Given the description of an element on the screen output the (x, y) to click on. 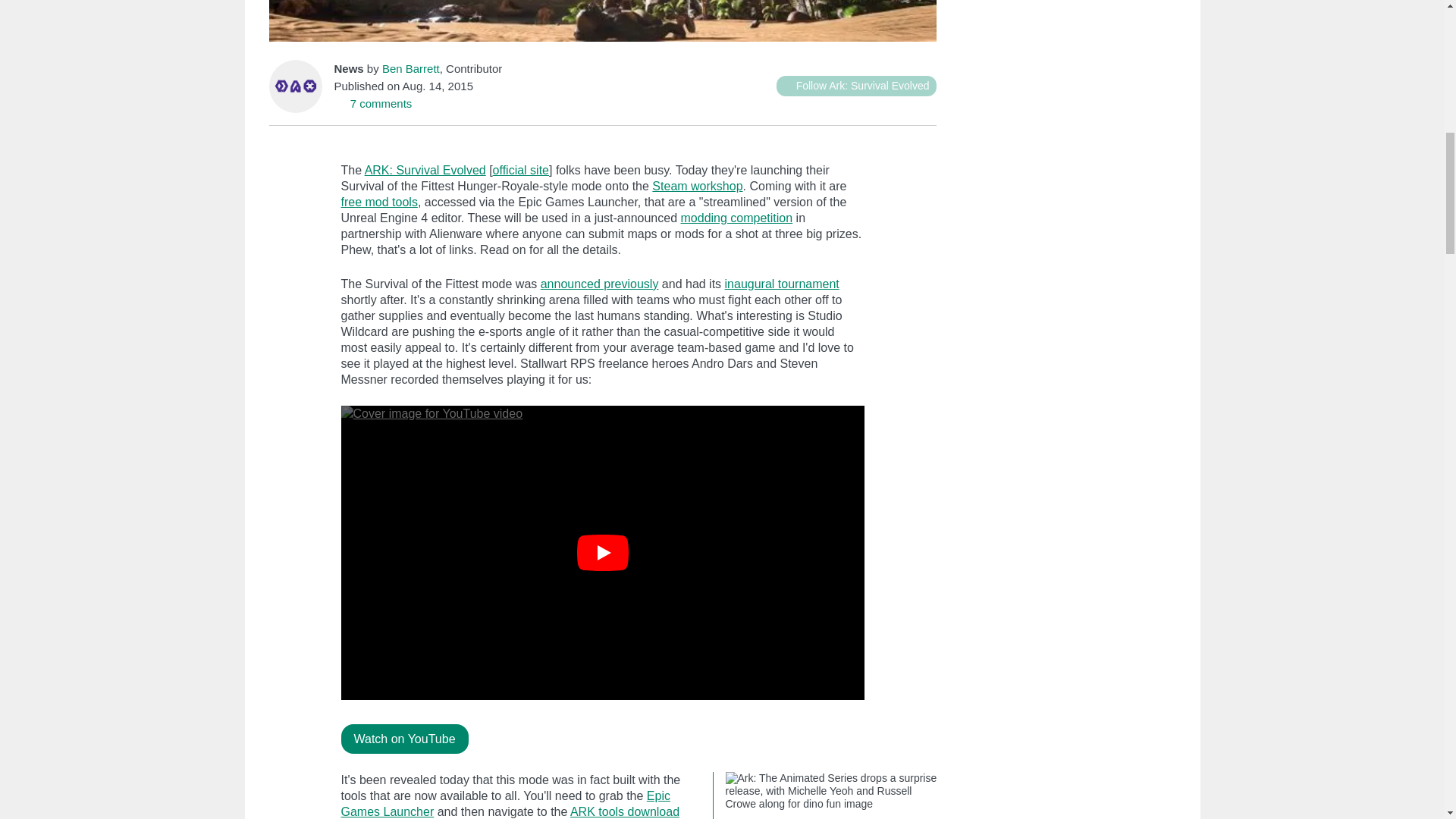
announced previously (599, 283)
Steam workshop (697, 185)
free mod tools (378, 201)
7 comments (372, 103)
ARK: Survival Evolved (425, 169)
modding competition (737, 217)
Follow Ark: Survival Evolved (856, 86)
official site (520, 169)
inaugural tournament (782, 283)
Ben Barrett (410, 68)
